Given the description of an element on the screen output the (x, y) to click on. 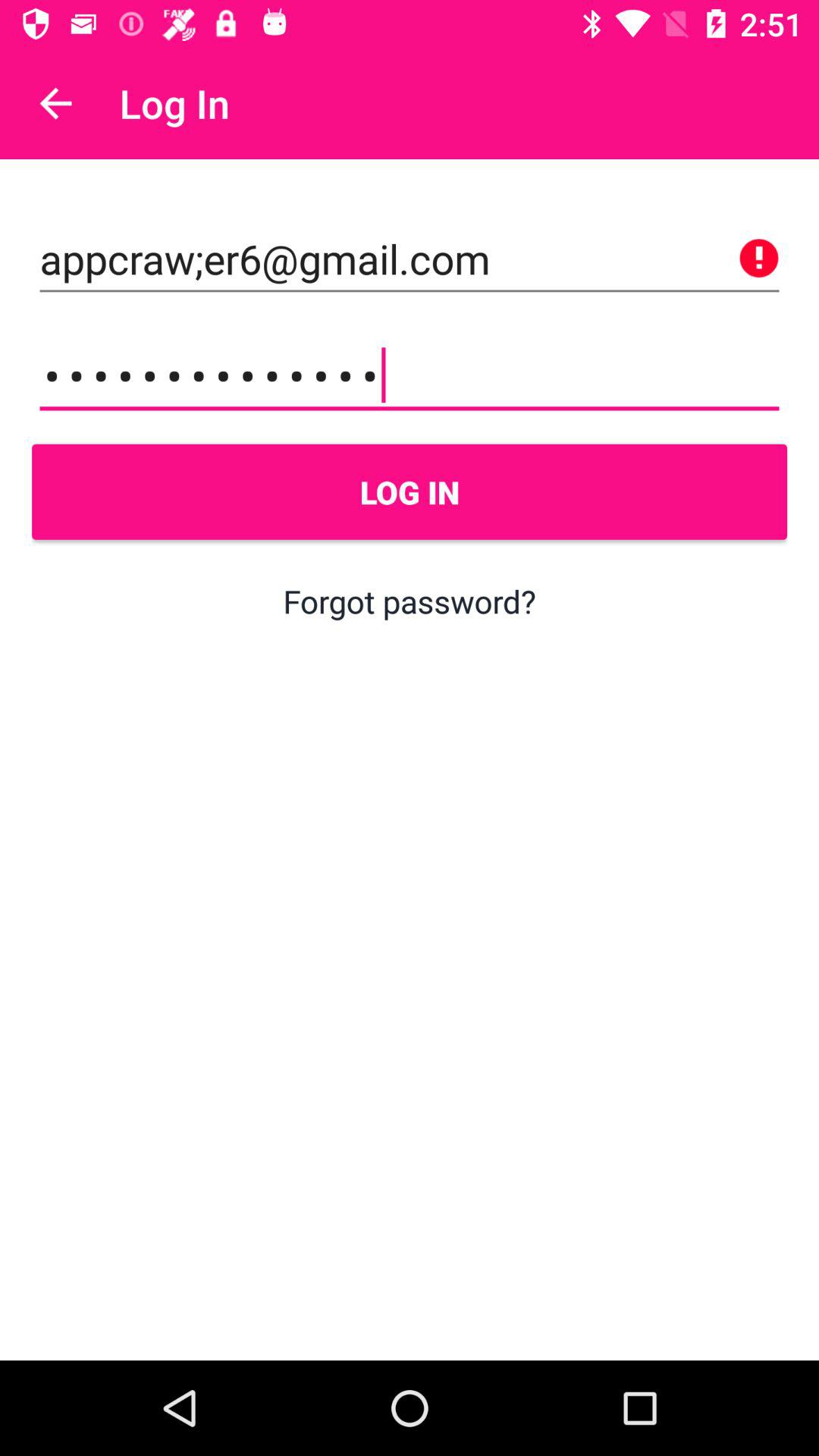
click icon below the appcraw er6 gmail icon (409, 375)
